Given the description of an element on the screen output the (x, y) to click on. 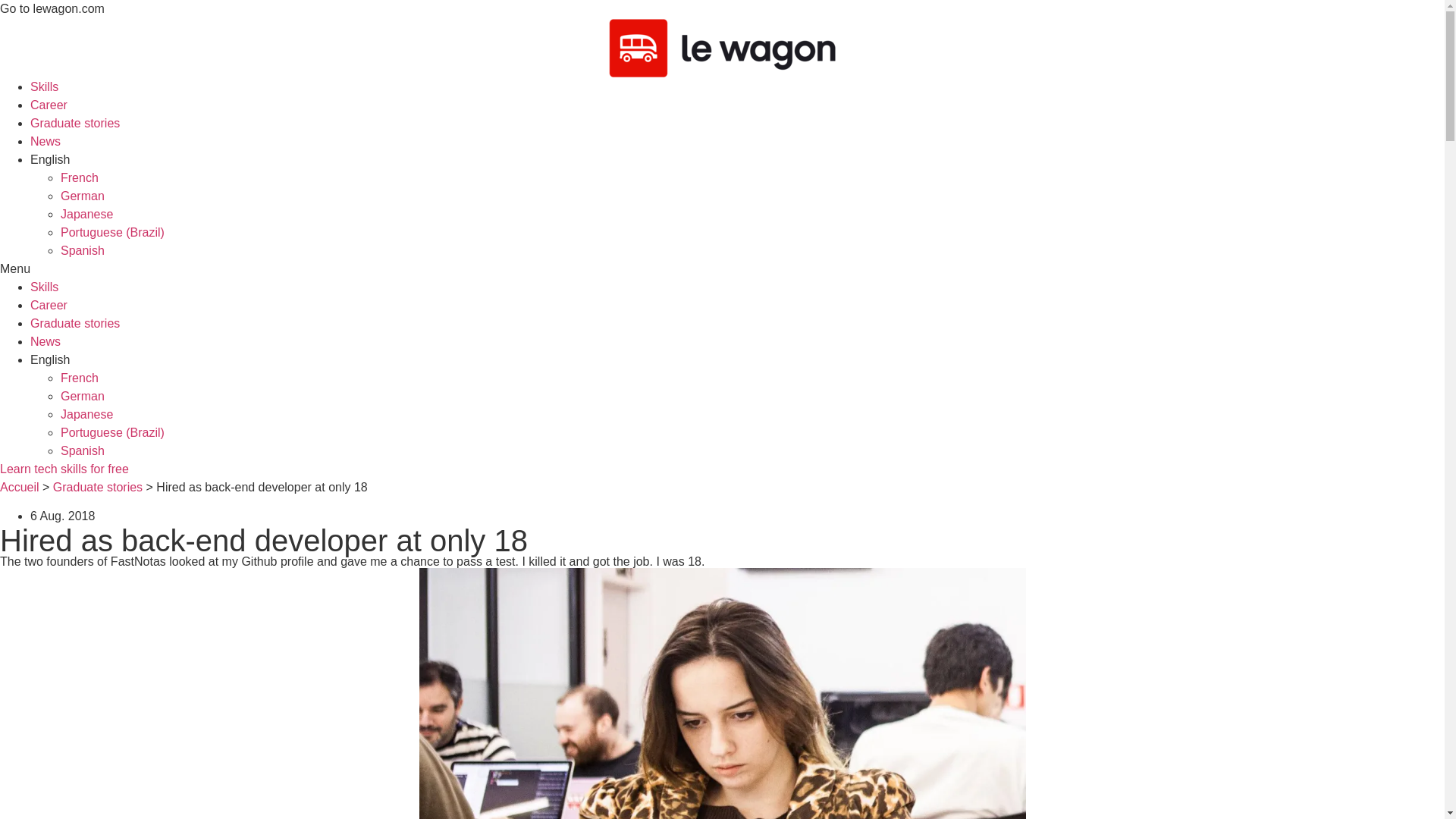
Skills (44, 286)
News (45, 341)
Learn tech skills for free (64, 468)
Graduate stories (74, 323)
Career (48, 305)
Graduate stories (74, 123)
Go to lewagon.com (52, 8)
English (49, 359)
News (45, 141)
English (49, 159)
Skills (44, 86)
Graduate stories (97, 486)
Accueil (19, 486)
Career (48, 104)
